Given the description of an element on the screen output the (x, y) to click on. 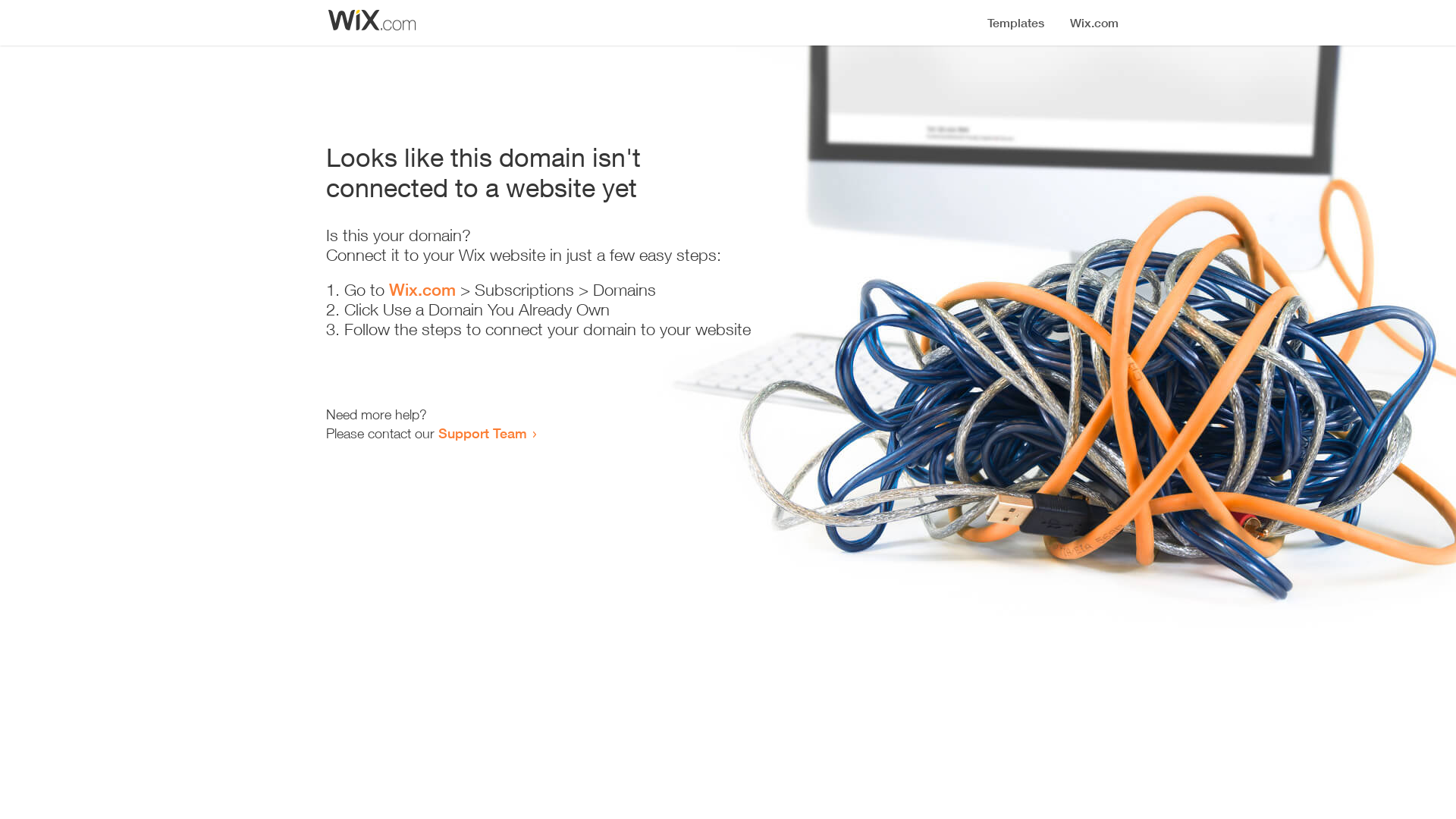
Support Team Element type: text (482, 432)
Wix.com Element type: text (422, 289)
